Given the description of an element on the screen output the (x, y) to click on. 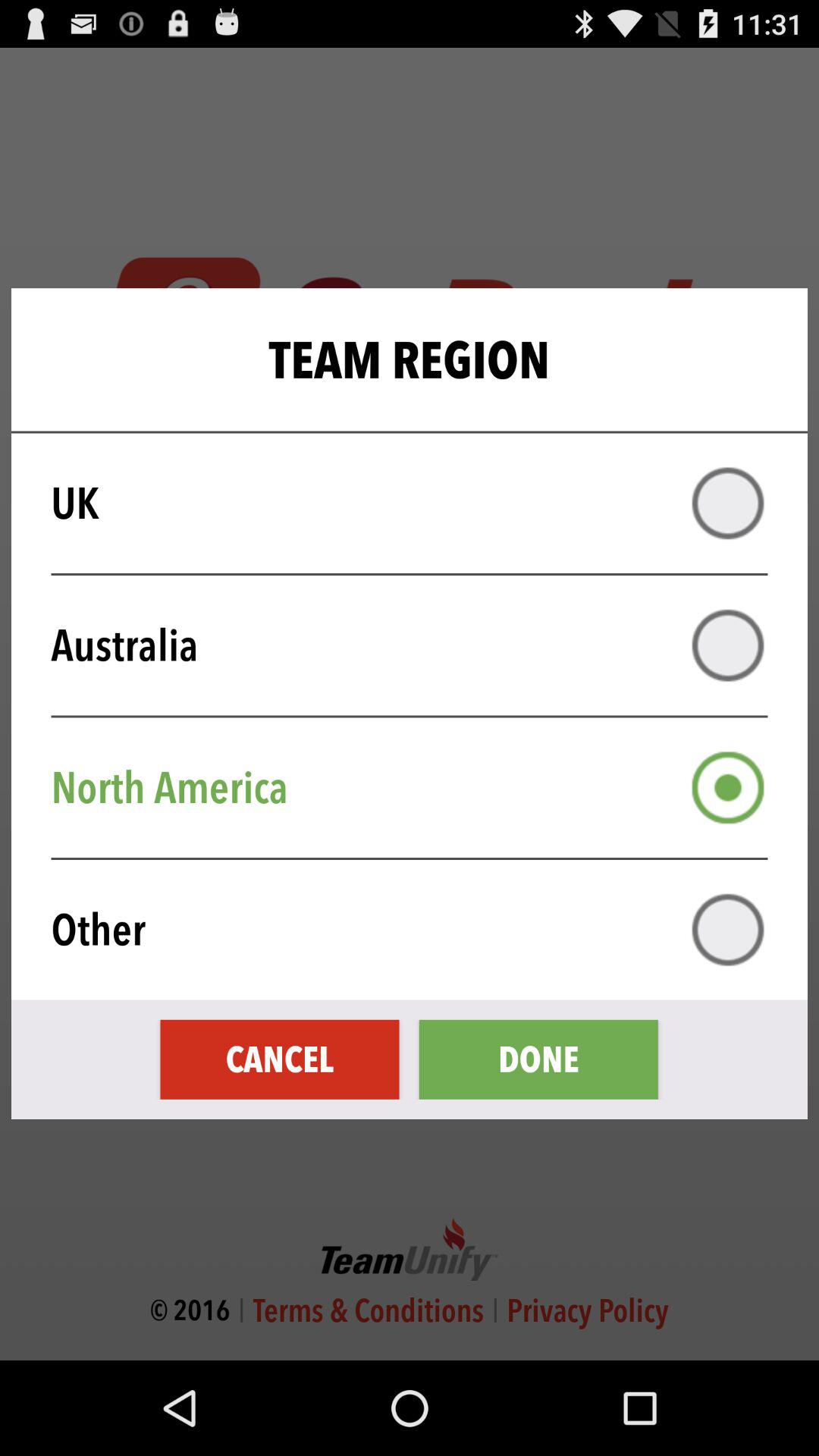
turn off item to the right of the cancel icon (538, 1059)
